Given the description of an element on the screen output the (x, y) to click on. 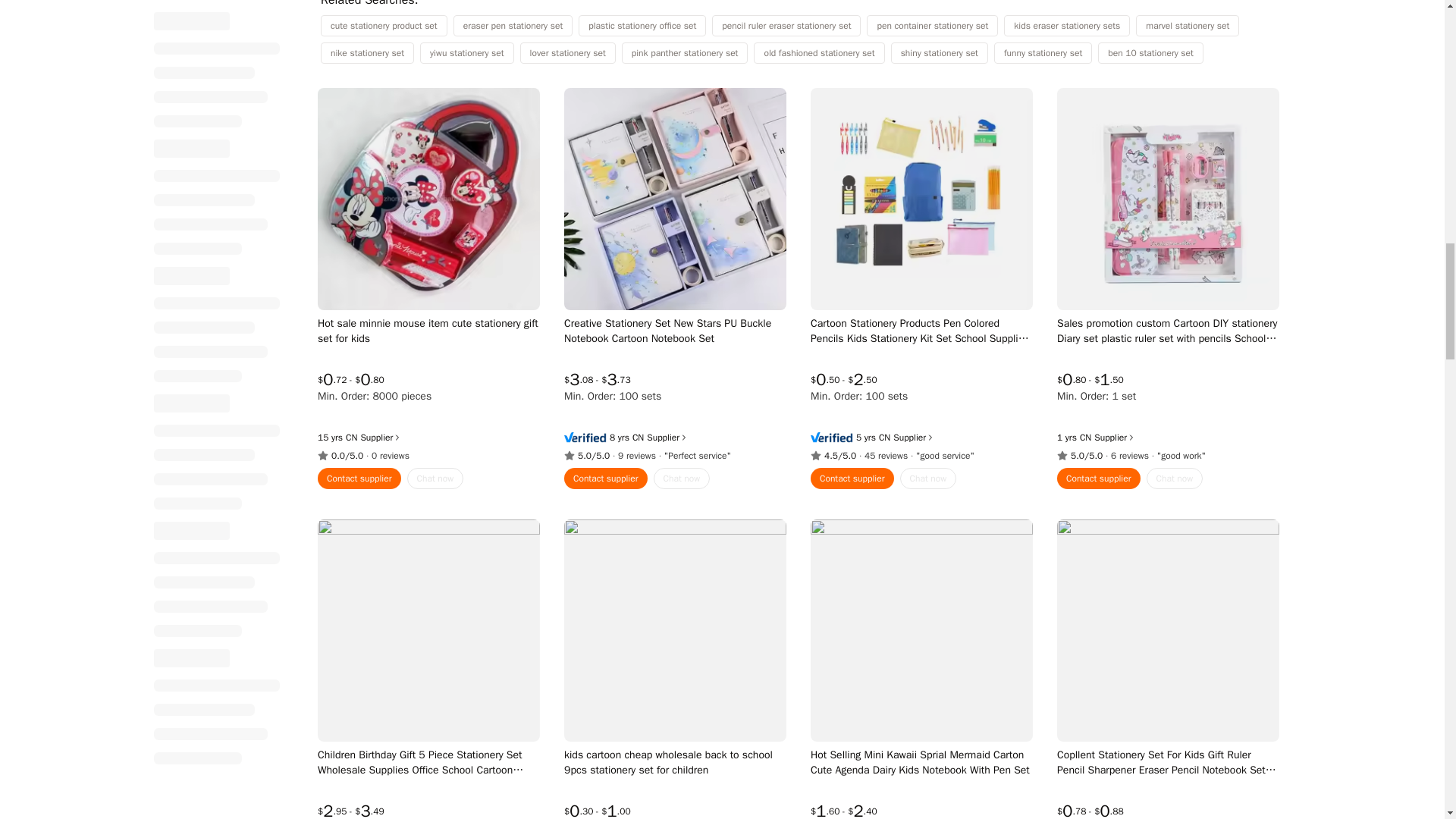
Longgang City Senyuan Paper Plastic Products Factory (1084, 437)
Guangzhou Zhongchuang Packing Products Co., Ltd. (351, 437)
Ningbo Haoxuan Crafts Co., Ltd. (637, 437)
